Given the description of an element on the screen output the (x, y) to click on. 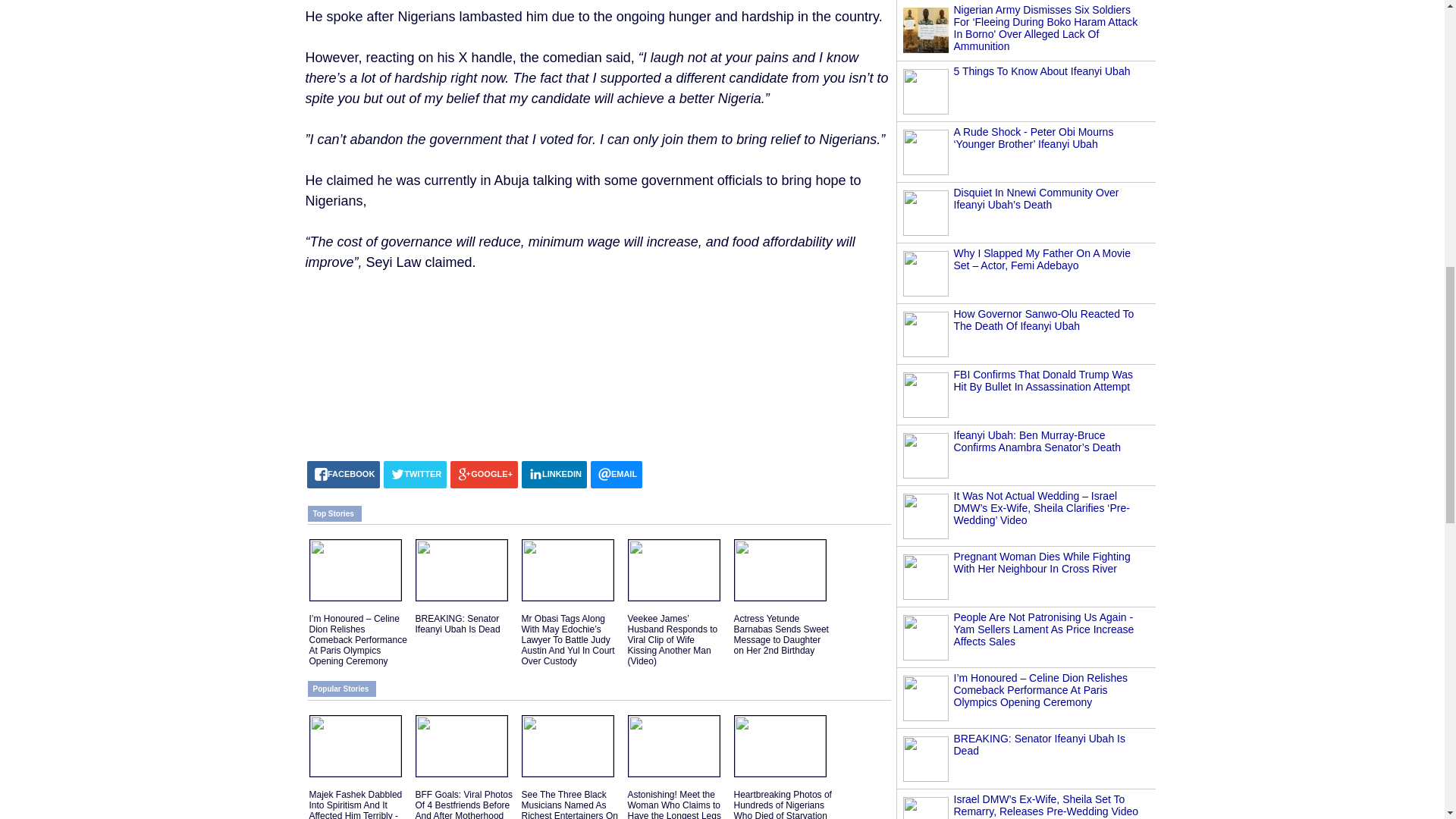
5 Things To Know About Ifeanyi Ubah (1042, 70)
How Governor Sanwo-Olu Reacted To The Death Of Ifeanyi Ubah (1043, 319)
